Given the description of an element on the screen output the (x, y) to click on. 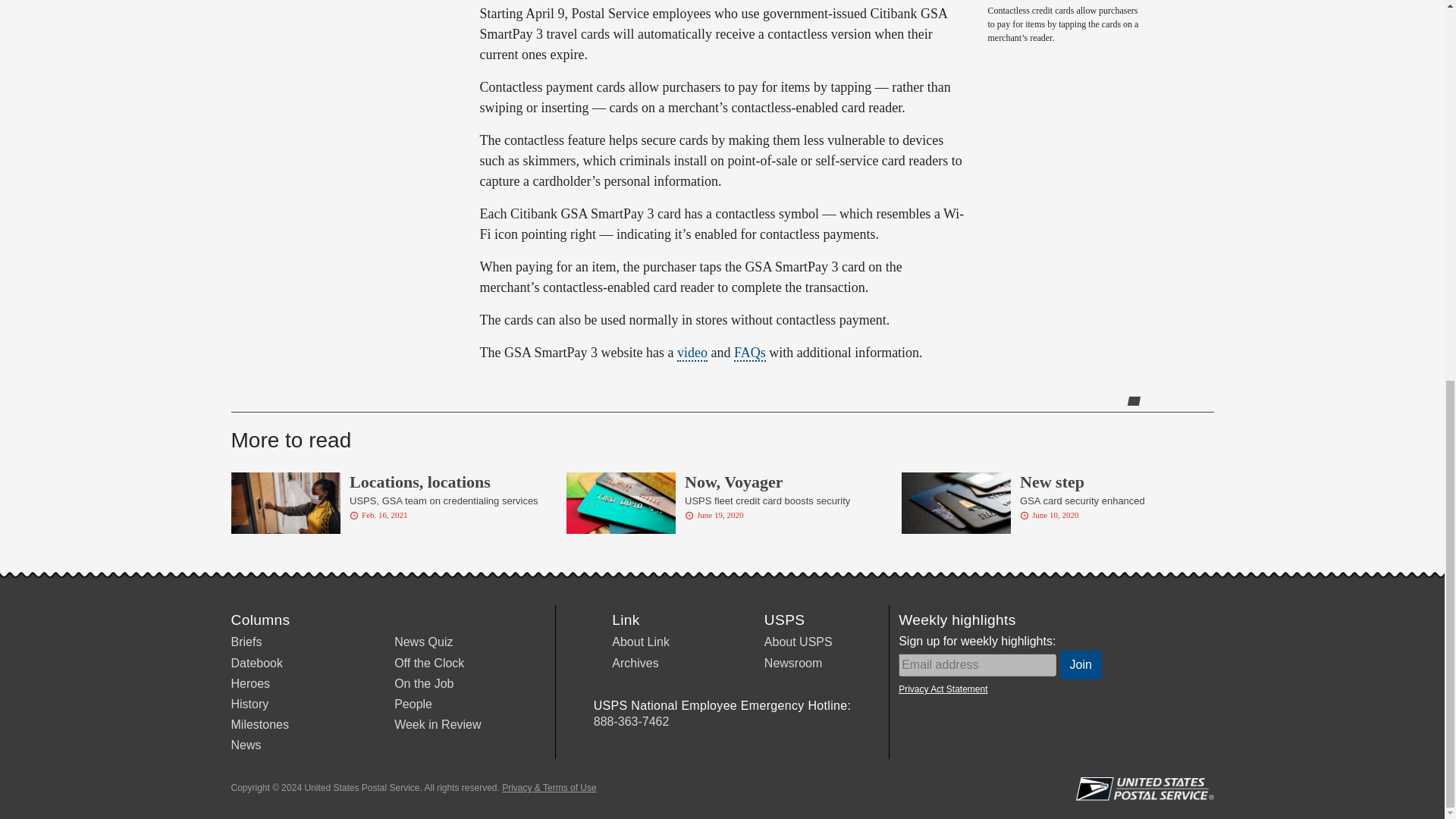
Join (1080, 664)
News (245, 744)
FAQs (749, 352)
People (413, 703)
On the Job (423, 683)
About Link (640, 641)
Heroes (249, 683)
History (248, 703)
Datebook (256, 662)
